Given the description of an element on the screen output the (x, y) to click on. 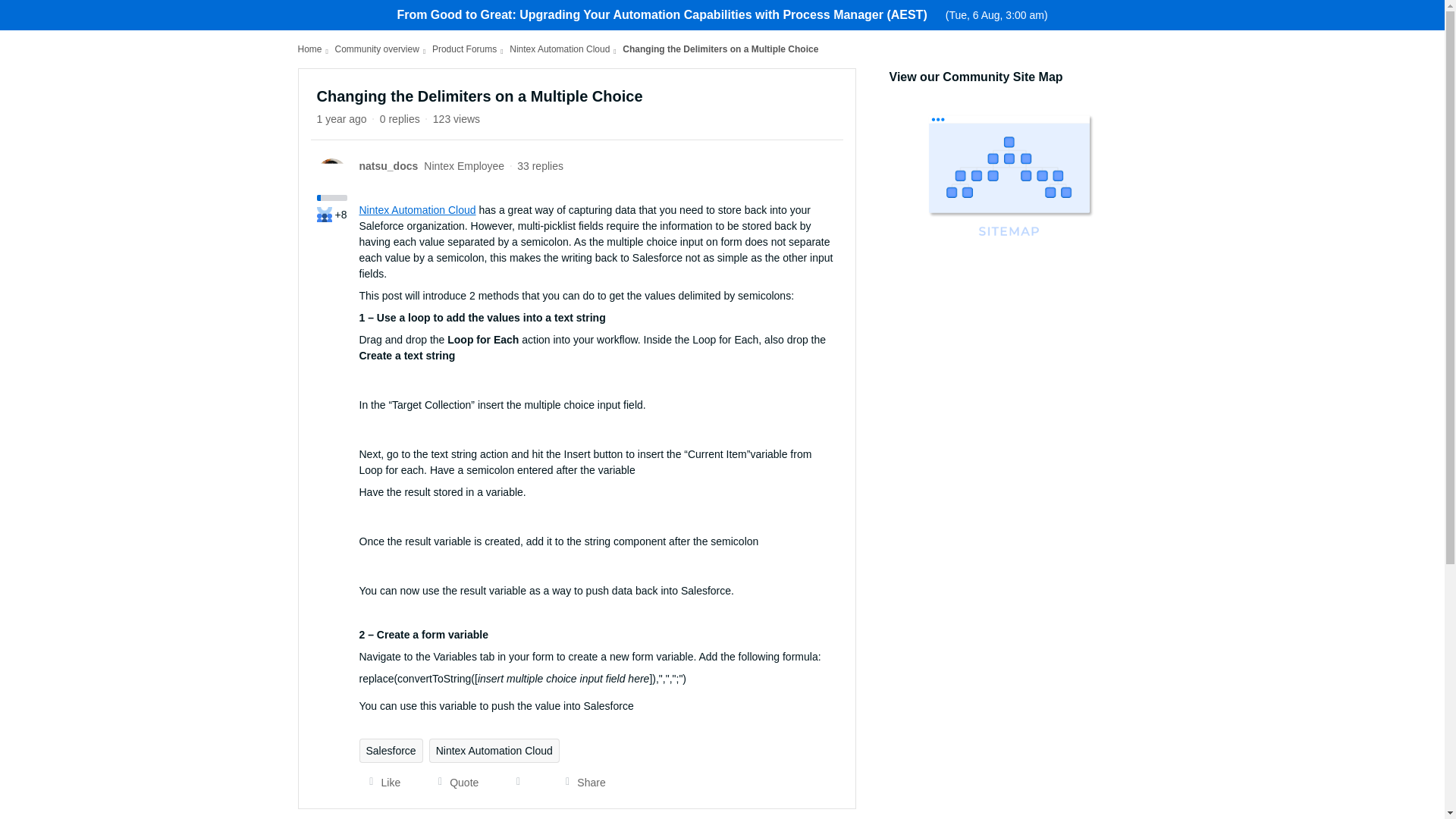
Nintex Automation Cloud (417, 209)
Lend a hand (324, 214)
Salesforce (391, 750)
Nintex Automation Cloud (559, 49)
Like (380, 782)
Home (309, 49)
Product Forums (464, 49)
Nintex Automation Cloud (494, 750)
Community overview (376, 49)
Quote (453, 782)
0 replies (400, 119)
